Given the description of an element on the screen output the (x, y) to click on. 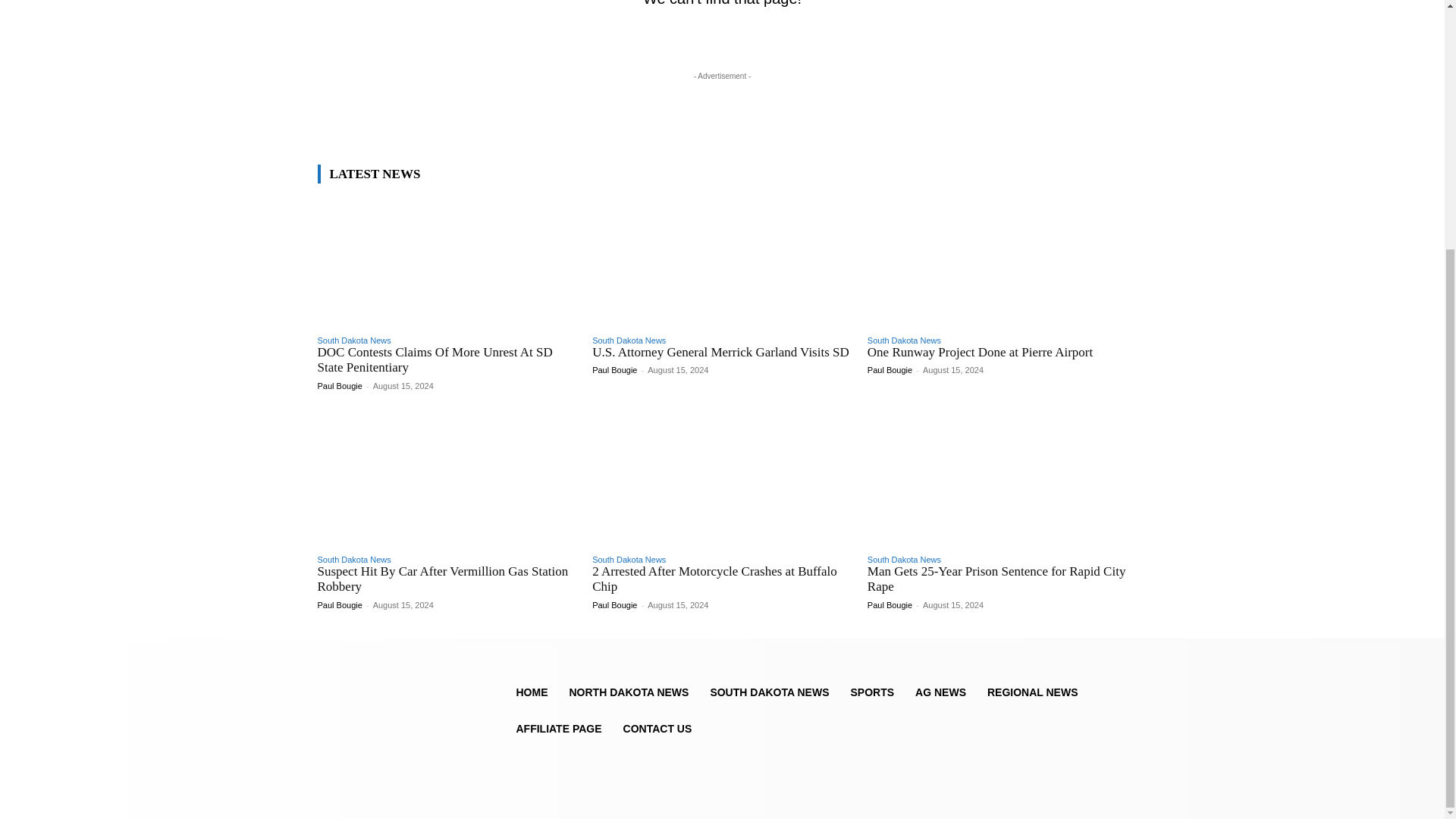
One Runway Project Done at Pierre Airport (980, 351)
U.S. Attorney General Merrick Garland Visits SD (720, 351)
One Runway Project Done at Pierre Airport (996, 261)
Paul Bougie (339, 385)
South Dakota News (353, 340)
DOC Contests Claims Of More Unrest At SD State Penitentiary (446, 261)
U.S. Attorney General Merrick Garland Visits SD (720, 351)
South Dakota News (903, 340)
DOC Contests Claims Of More Unrest At SD State Penitentiary (434, 359)
Paul Bougie (614, 369)
